Given the description of an element on the screen output the (x, y) to click on. 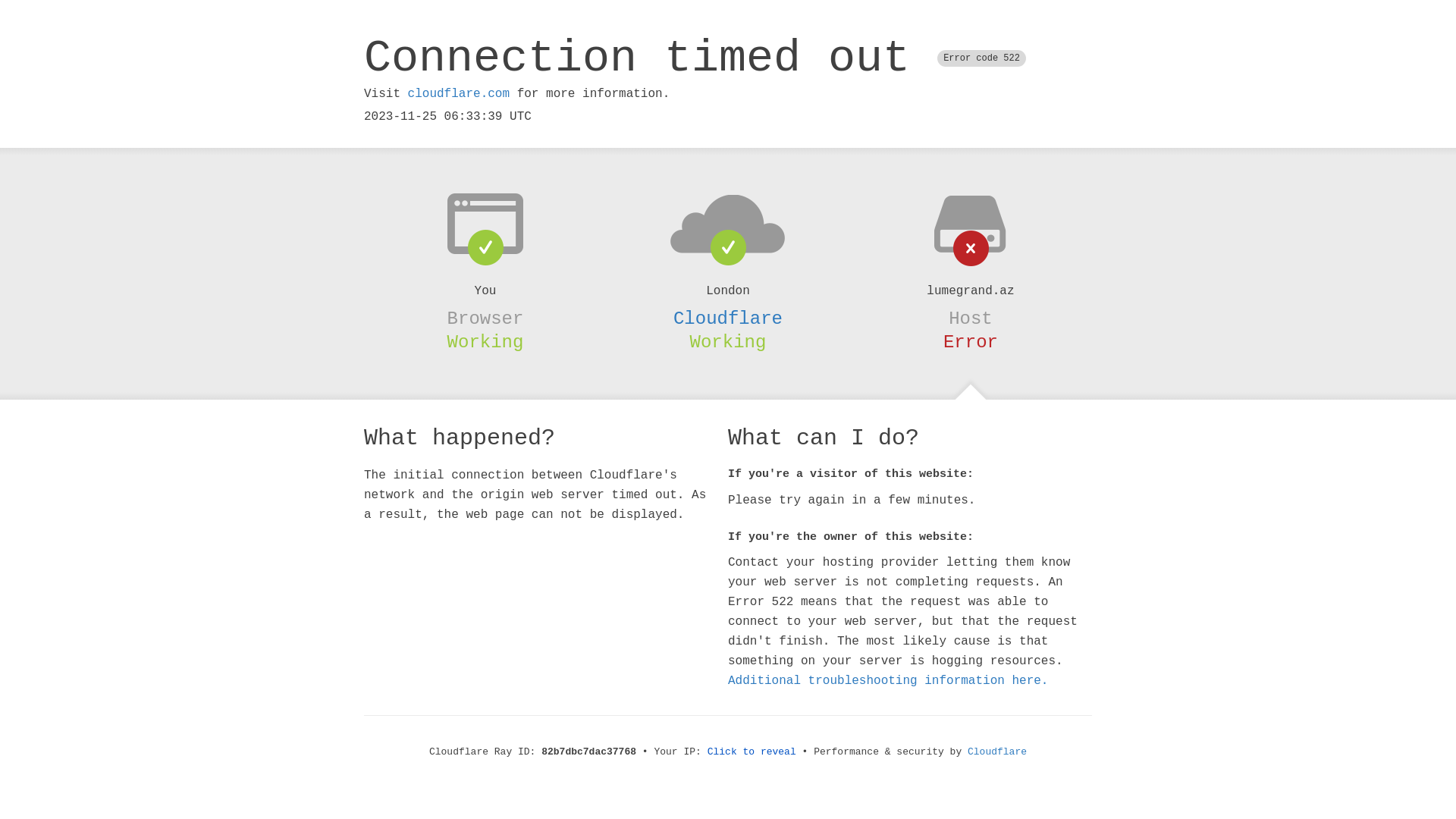
Cloudflare Element type: text (996, 751)
Click to reveal Element type: text (751, 751)
Additional troubleshooting information here. Element type: text (888, 680)
cloudflare.com Element type: text (458, 93)
Cloudflare Element type: text (727, 318)
